Given the description of an element on the screen output the (x, y) to click on. 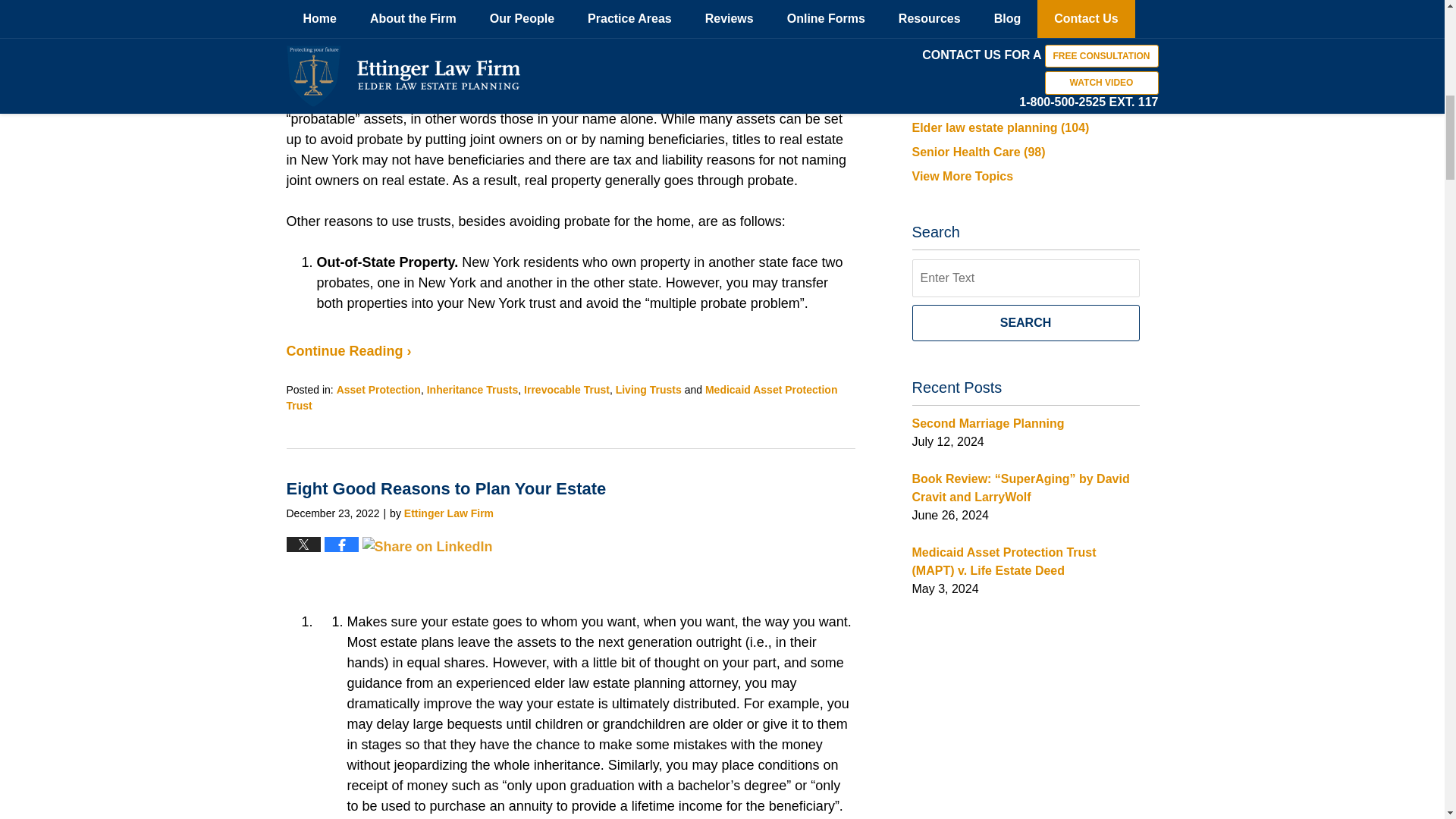
View all posts in Inheritance Trusts (472, 389)
View all posts in Medicaid Asset Protection Trust (562, 397)
Permalink to When Does a Trust Make Sense (411, 8)
View all posts in Living Trusts (648, 389)
View all posts in Asset Protection (378, 389)
View all posts in Irrevocable Trust (567, 389)
Continue Reading When Does a Trust Make Sense (349, 350)
Permalink to Eight Good Reasons to Plan Your Estate (446, 488)
